Given the description of an element on the screen output the (x, y) to click on. 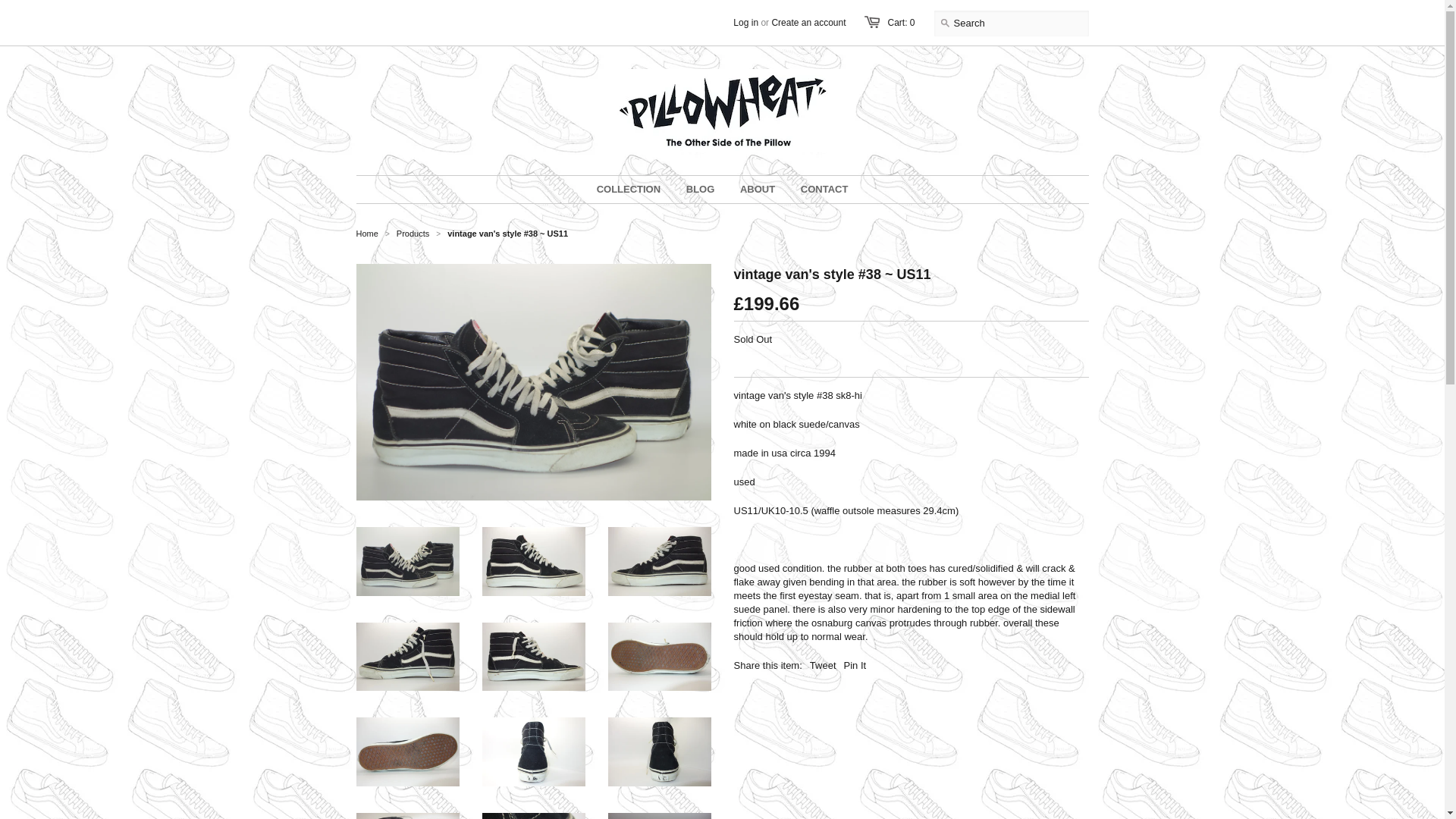
BLOG (700, 189)
CONTACT (824, 189)
Products (413, 233)
All Products (413, 233)
Log in (745, 22)
Shopping Cart (900, 22)
Tweet (822, 665)
COLLECTION (628, 189)
theothersideofthepillow (367, 233)
Home (367, 233)
Cart: 0 (900, 22)
Create an account (808, 22)
ABOUT (757, 189)
Pin It (855, 665)
